Given the description of an element on the screen output the (x, y) to click on. 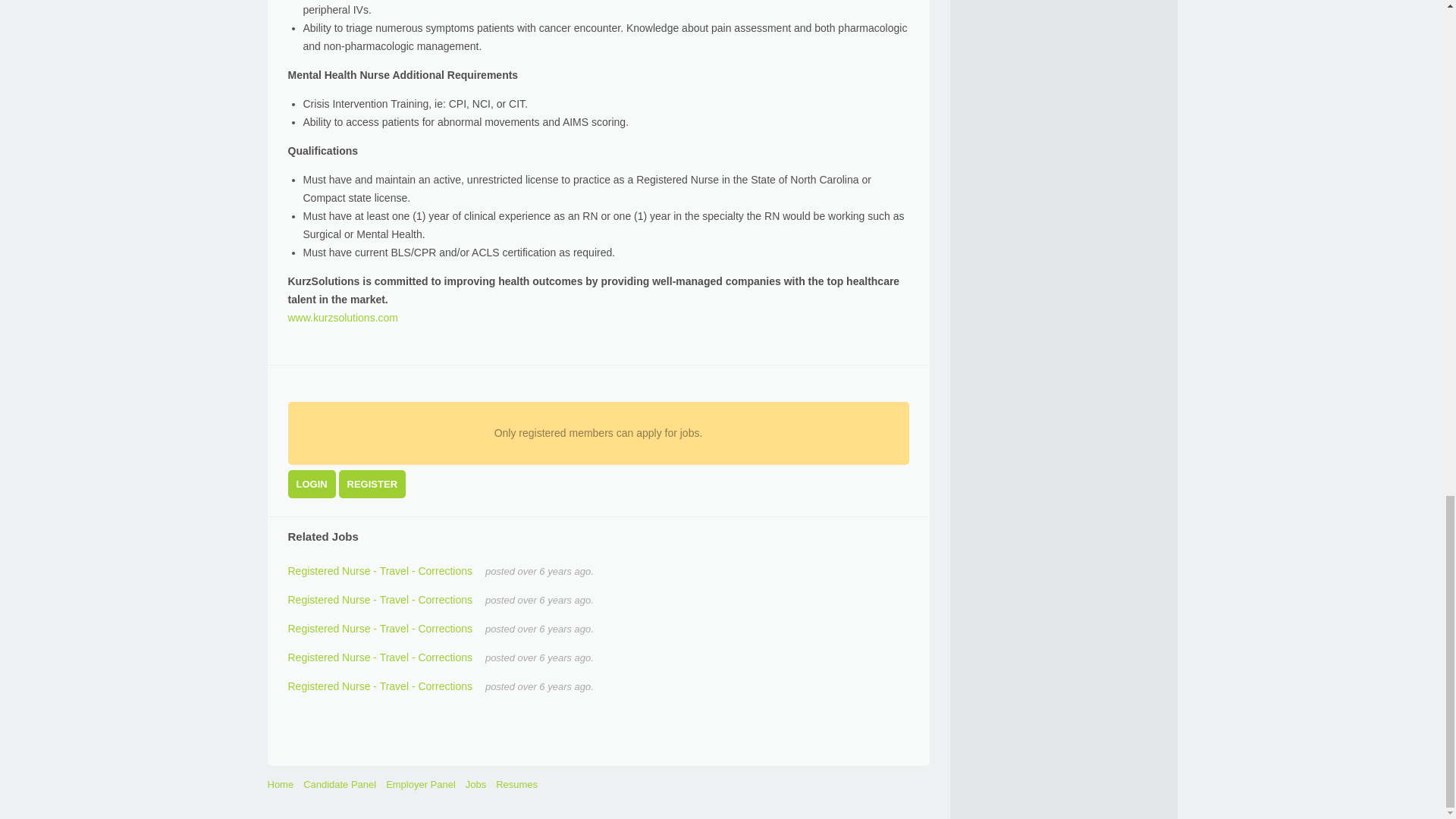
Registered Nurse - Travel - Corrections (380, 599)
www.kurzsolutions.com (343, 317)
REGISTER (372, 483)
Registered Nurse - Travel - Corrections (380, 686)
LOGIN (312, 483)
Registered Nurse - Travel - Corrections (380, 571)
Registered Nurse - Travel - Corrections (380, 657)
Registered Nurse - Travel - Corrections (380, 628)
